Given the description of an element on the screen output the (x, y) to click on. 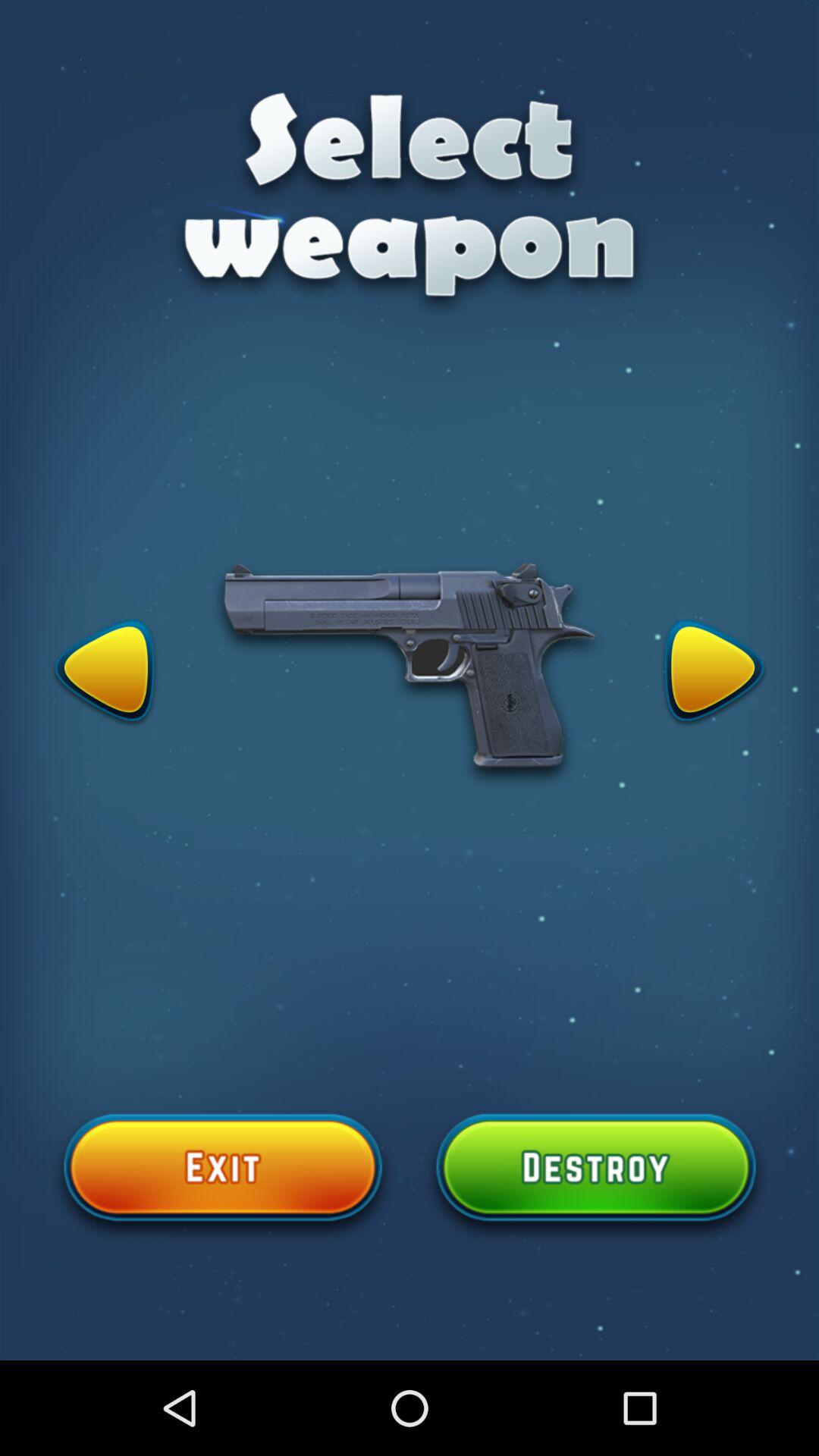
toggle weapon (104, 673)
